Given the description of an element on the screen output the (x, y) to click on. 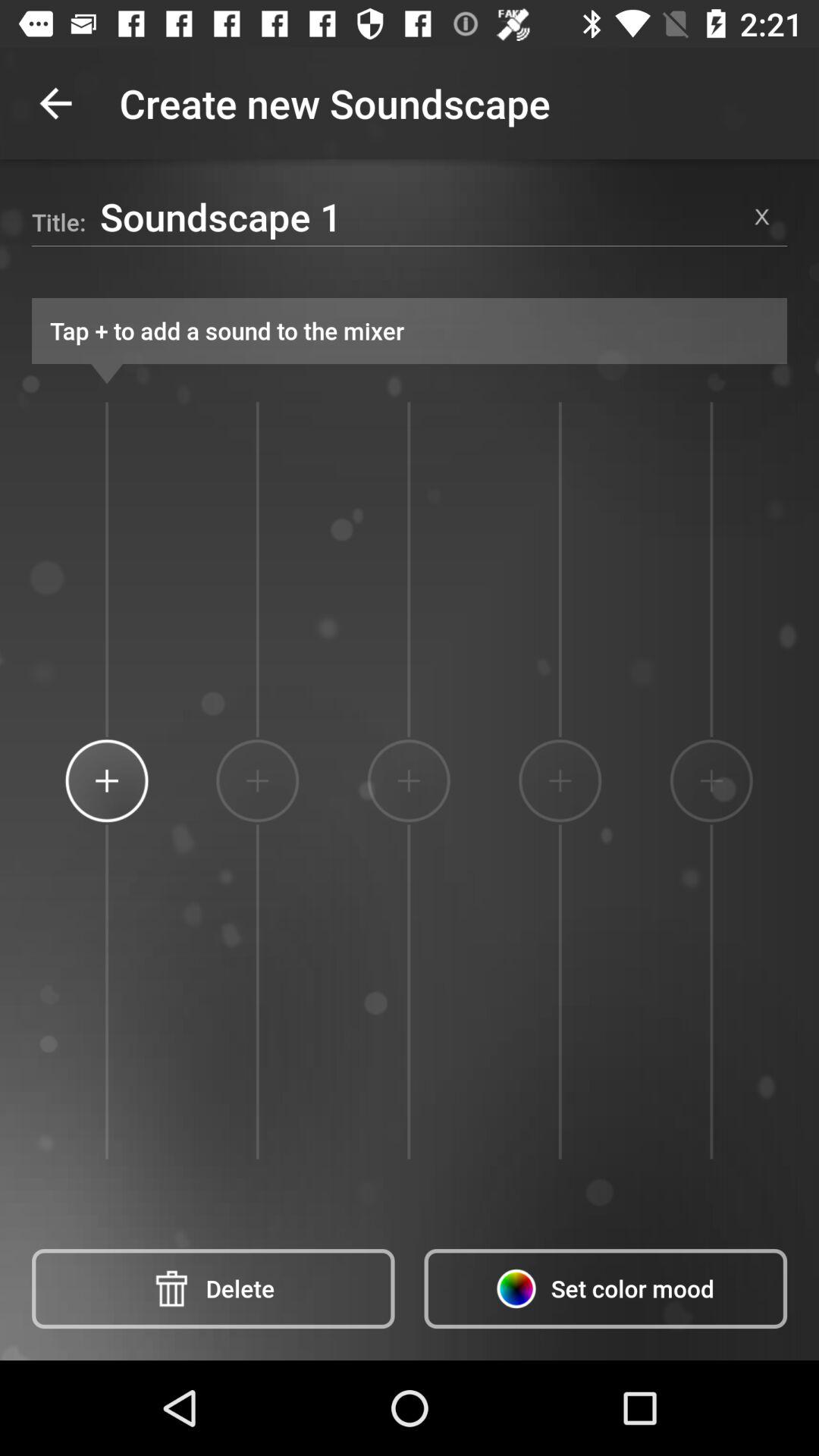
launch icon below the tap to add (711, 780)
